Given the description of an element on the screen output the (x, y) to click on. 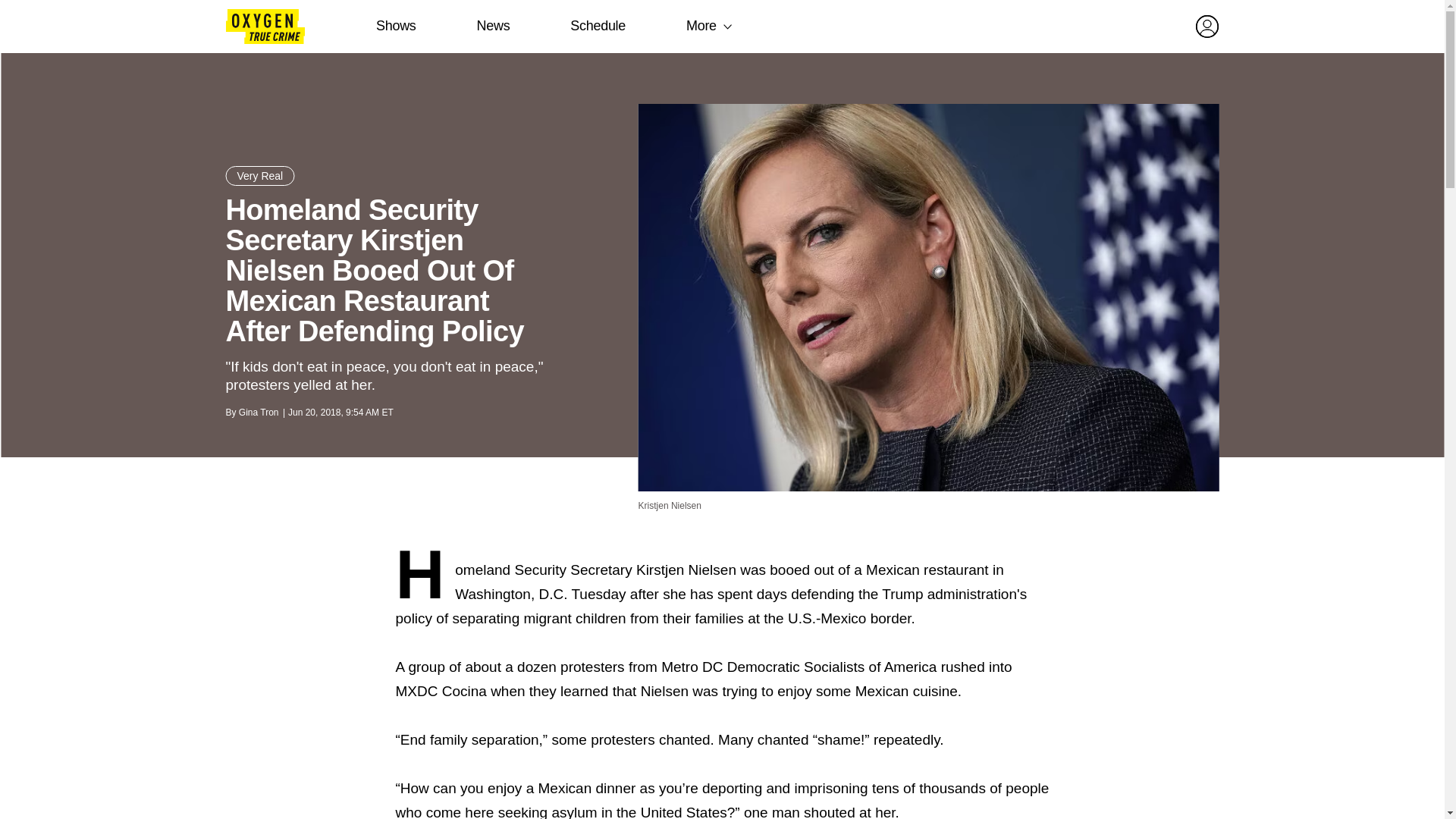
Very Real (260, 175)
Schedule (598, 26)
Gina Tron (258, 412)
More (700, 26)
Shows (395, 26)
News (492, 26)
